Given the description of an element on the screen output the (x, y) to click on. 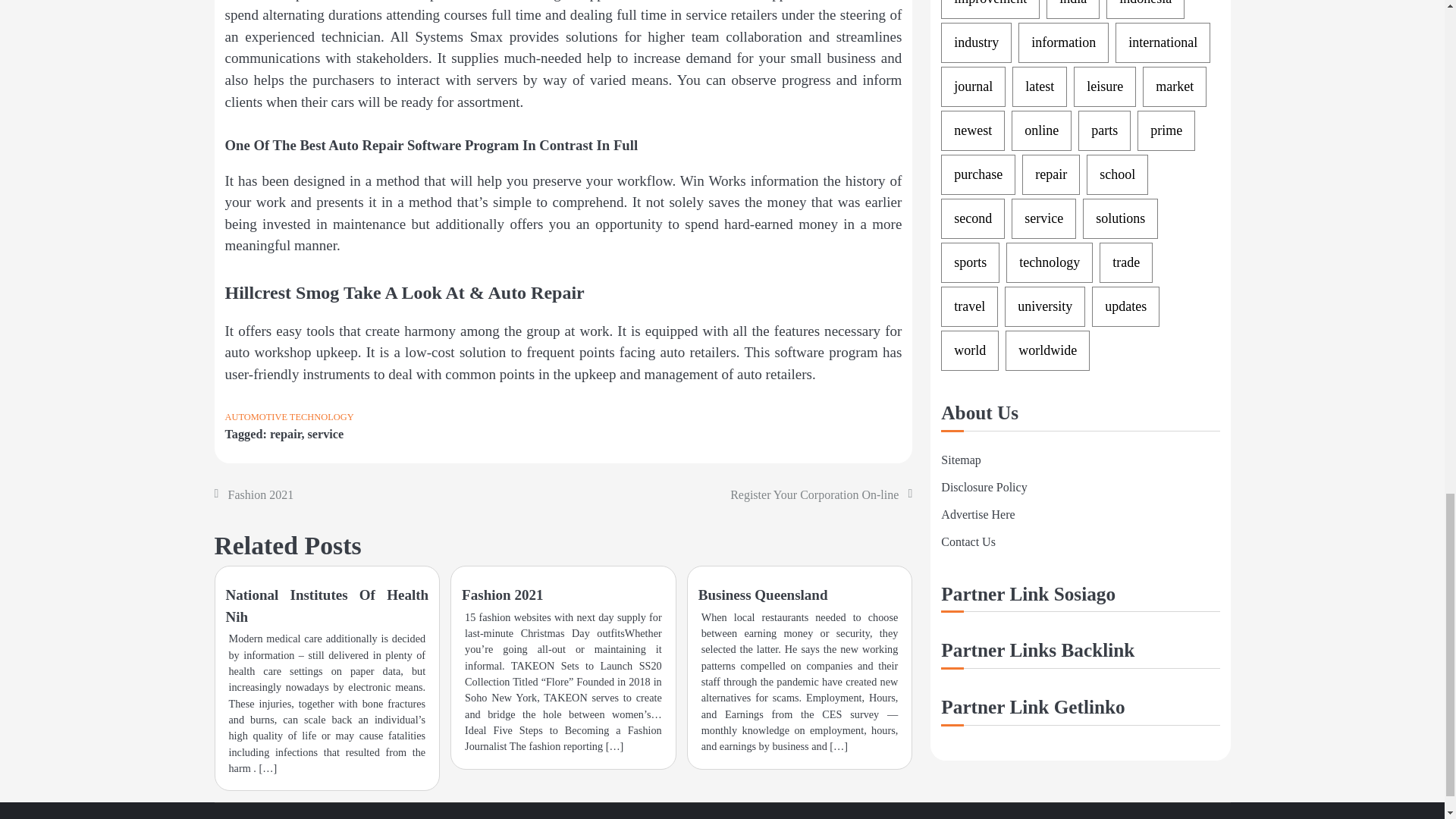
AUTOMOTIVE TECHNOLOGY (288, 416)
repair (285, 434)
National Institutes Of Health Nih (327, 605)
service (325, 434)
Fashion 2021 (260, 494)
Register Your Corporation On-line (814, 494)
Business Queensland (763, 594)
Fashion 2021 (502, 594)
